Given the description of an element on the screen output the (x, y) to click on. 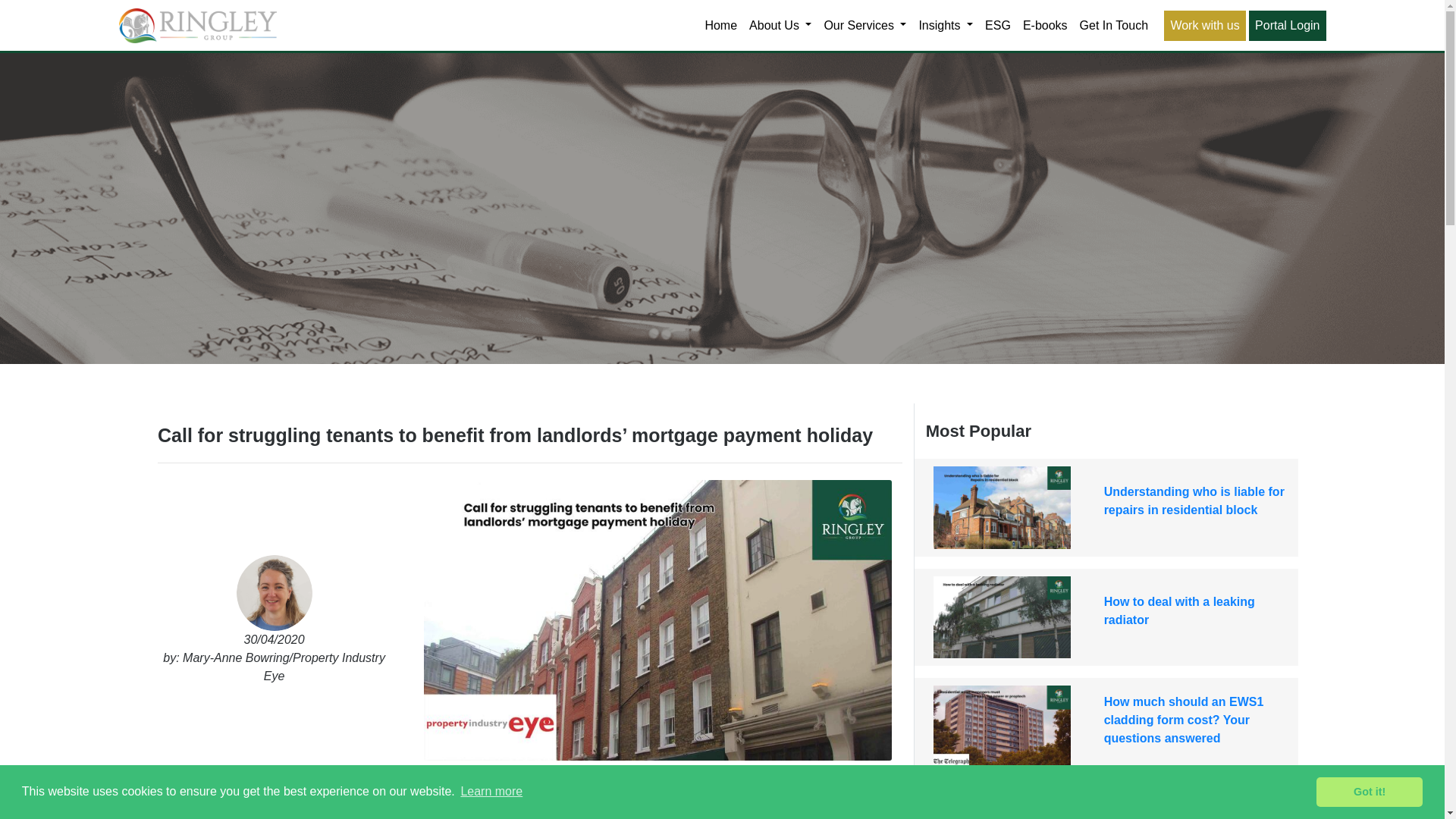
Our Services (864, 25)
About Us (779, 25)
Learn more (491, 791)
Home (720, 25)
Got it! (1369, 791)
